Given the description of an element on the screen output the (x, y) to click on. 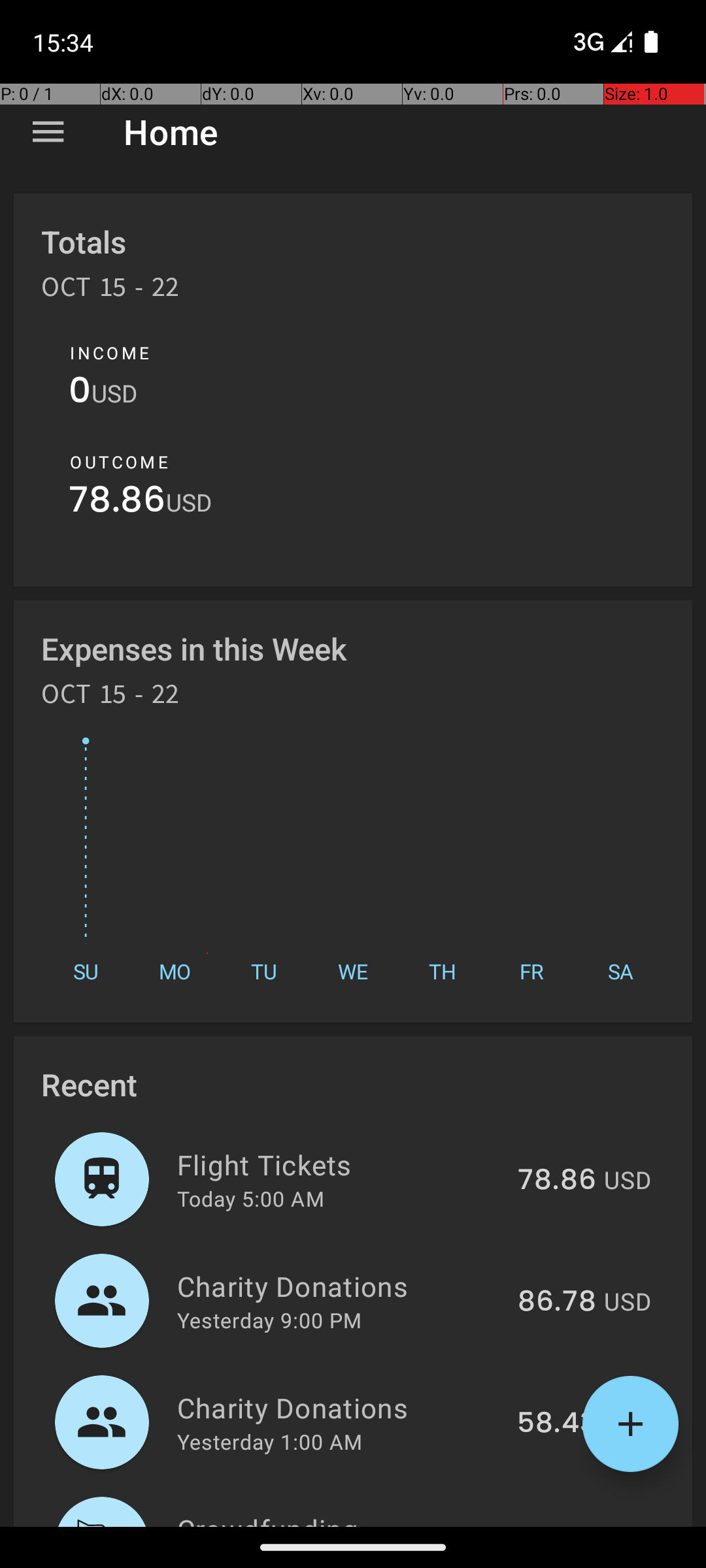
78.86 Element type: android.widget.TextView (117, 502)
Flight Tickets Element type: android.widget.TextView (339, 1164)
Today 5:00 AM Element type: android.widget.TextView (250, 1198)
Charity Donations Element type: android.widget.TextView (339, 1285)
Yesterday 9:00 PM Element type: android.widget.TextView (269, 1320)
86.78 Element type: android.widget.TextView (556, 1301)
Yesterday 1:00 AM Element type: android.widget.TextView (269, 1441)
58.43 Element type: android.widget.TextView (556, 1423)
Crowdfunding Element type: android.widget.TextView (335, 1518)
120.62 Element type: android.widget.TextView (552, 1524)
